Given the description of an element on the screen output the (x, y) to click on. 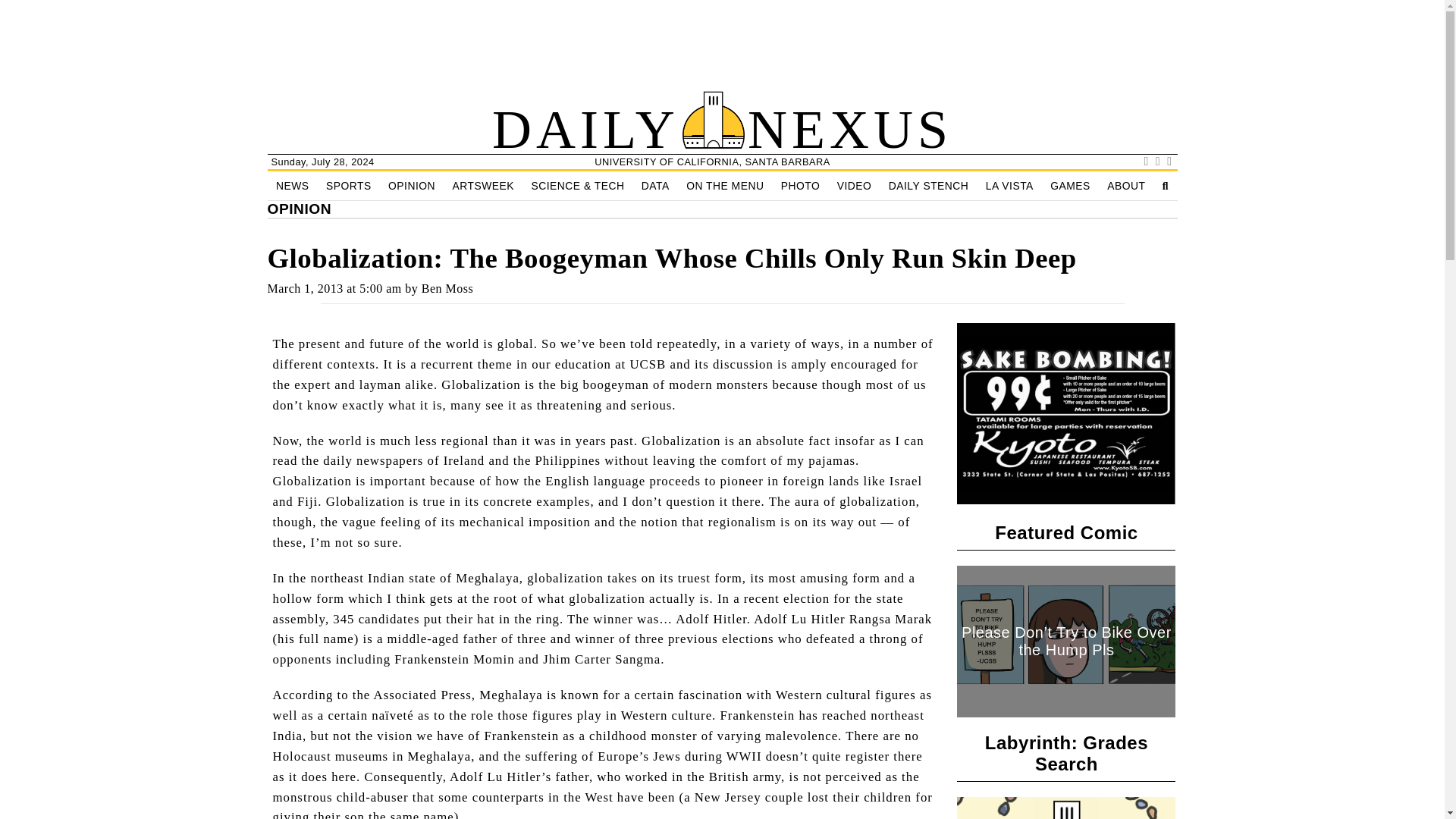
Posts by Ben Moss (447, 287)
